Given the description of an element on the screen output the (x, y) to click on. 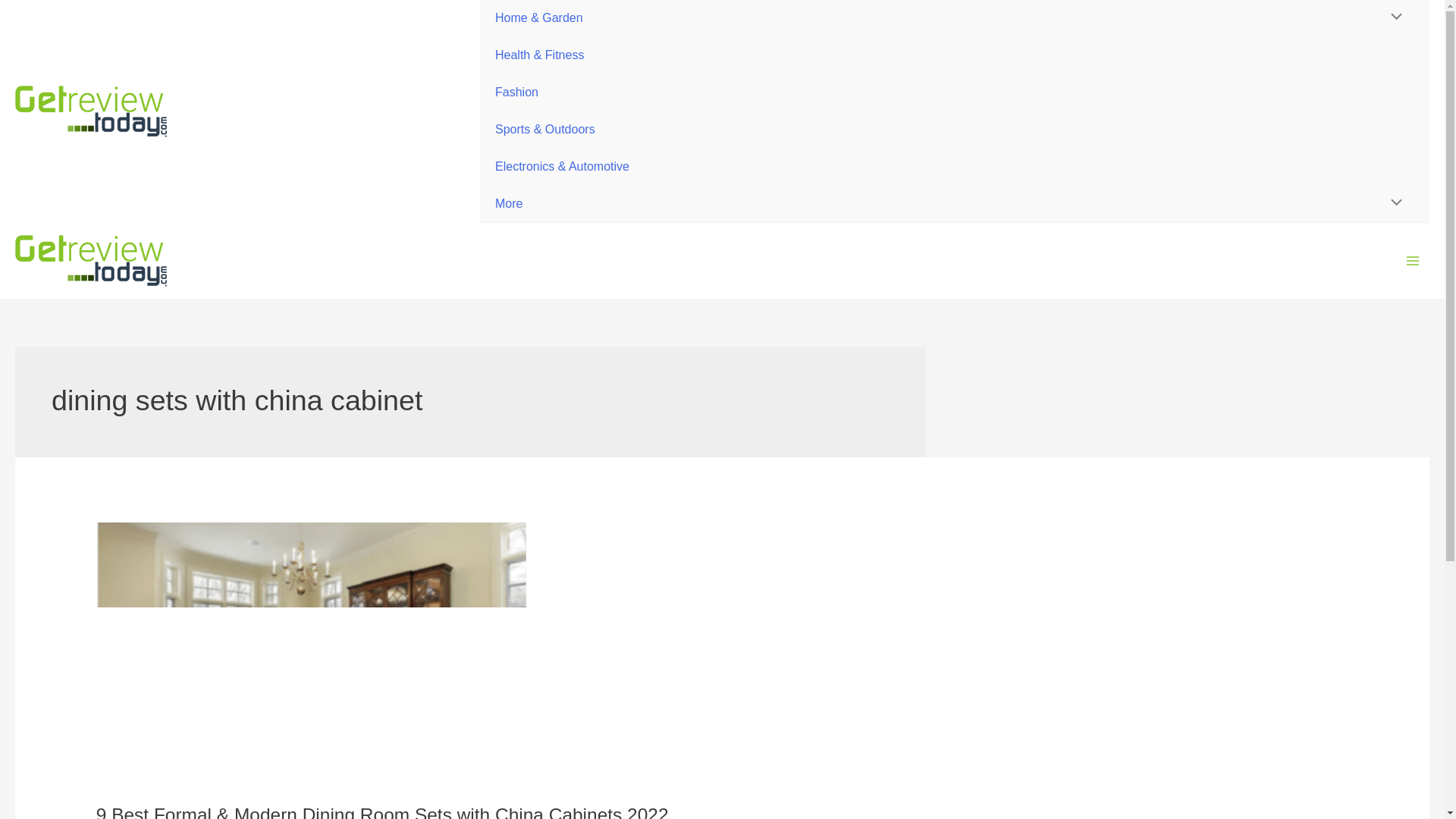
Menu Toggle (1392, 203)
More (954, 203)
Main Menu (1412, 260)
Menu Toggle (1392, 18)
Fashion (954, 92)
